Given the description of an element on the screen output the (x, y) to click on. 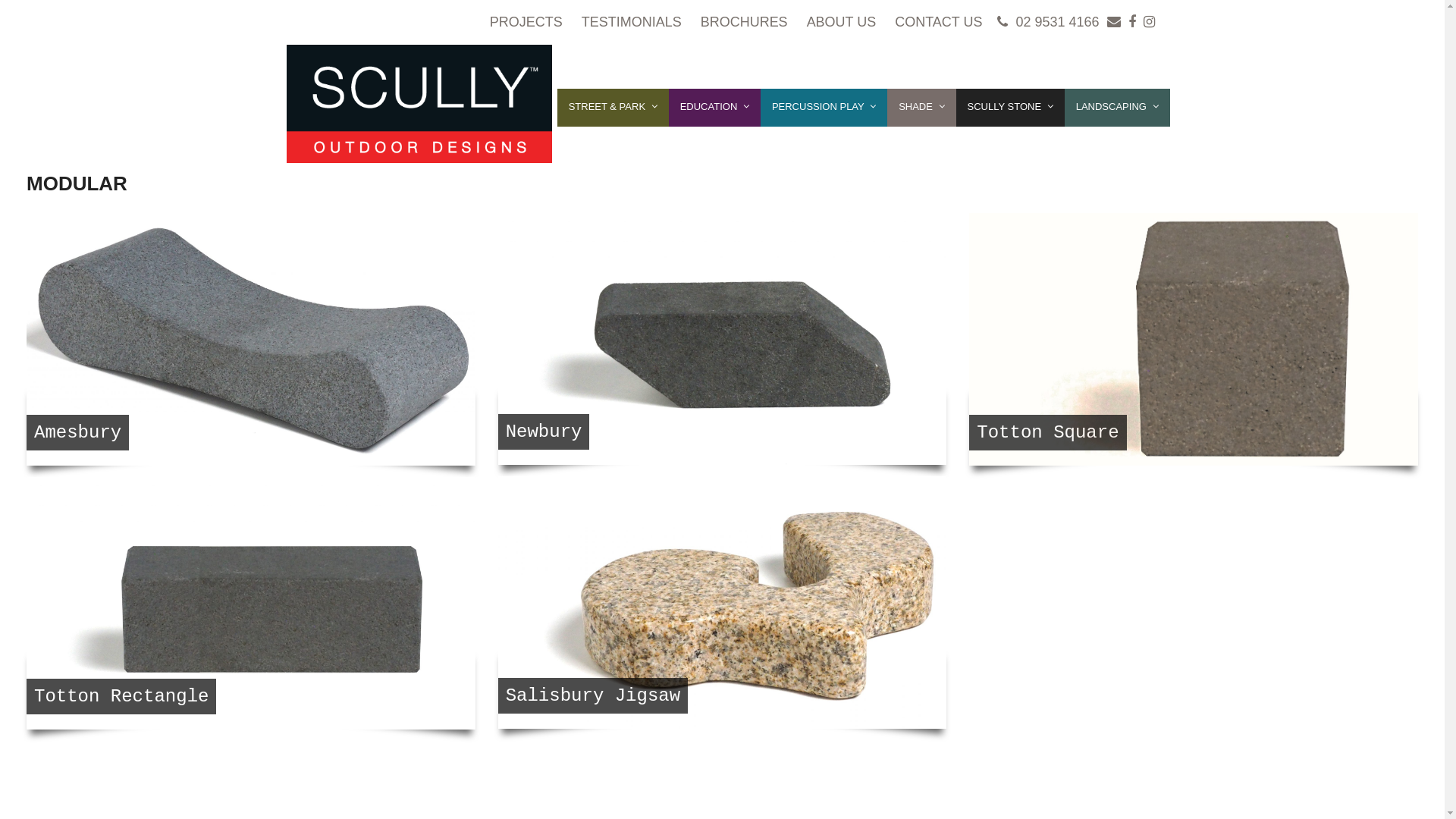
SHADE Element type: text (921, 107)
Totton Rectangle Element type: text (250, 602)
Salisbury Jigsaw Element type: text (722, 602)
Newbury Element type: text (722, 339)
STREET & PARK Element type: text (612, 107)
SCULLY STONE Element type: text (1010, 107)
ABOUT US Element type: text (841, 21)
OLYMPUS DIGITAL CAMERA Element type: hover (250, 602)
CONTACT US Element type: text (938, 21)
OLYMPUS DIGITAL CAMERA Element type: hover (722, 339)
OLYMPUS DIGITAL CAMERA Element type: hover (722, 602)
Amesbury Element type: text (250, 339)
OLYMPUS DIGITAL CAMERA Element type: hover (250, 339)
LANDSCAPING Element type: text (1117, 107)
PROJECTS Element type: text (525, 21)
EDUCATION Element type: text (714, 107)
PERCUSSION PLAY Element type: text (823, 107)
4078SCL_ScullyStone_MOD_totton_square Resized JPEG Element type: hover (1193, 339)
Totton Square Element type: text (1193, 339)
TESTIMONIALS Element type: text (631, 21)
BROCHURES Element type: text (743, 21)
